Given the description of an element on the screen output the (x, y) to click on. 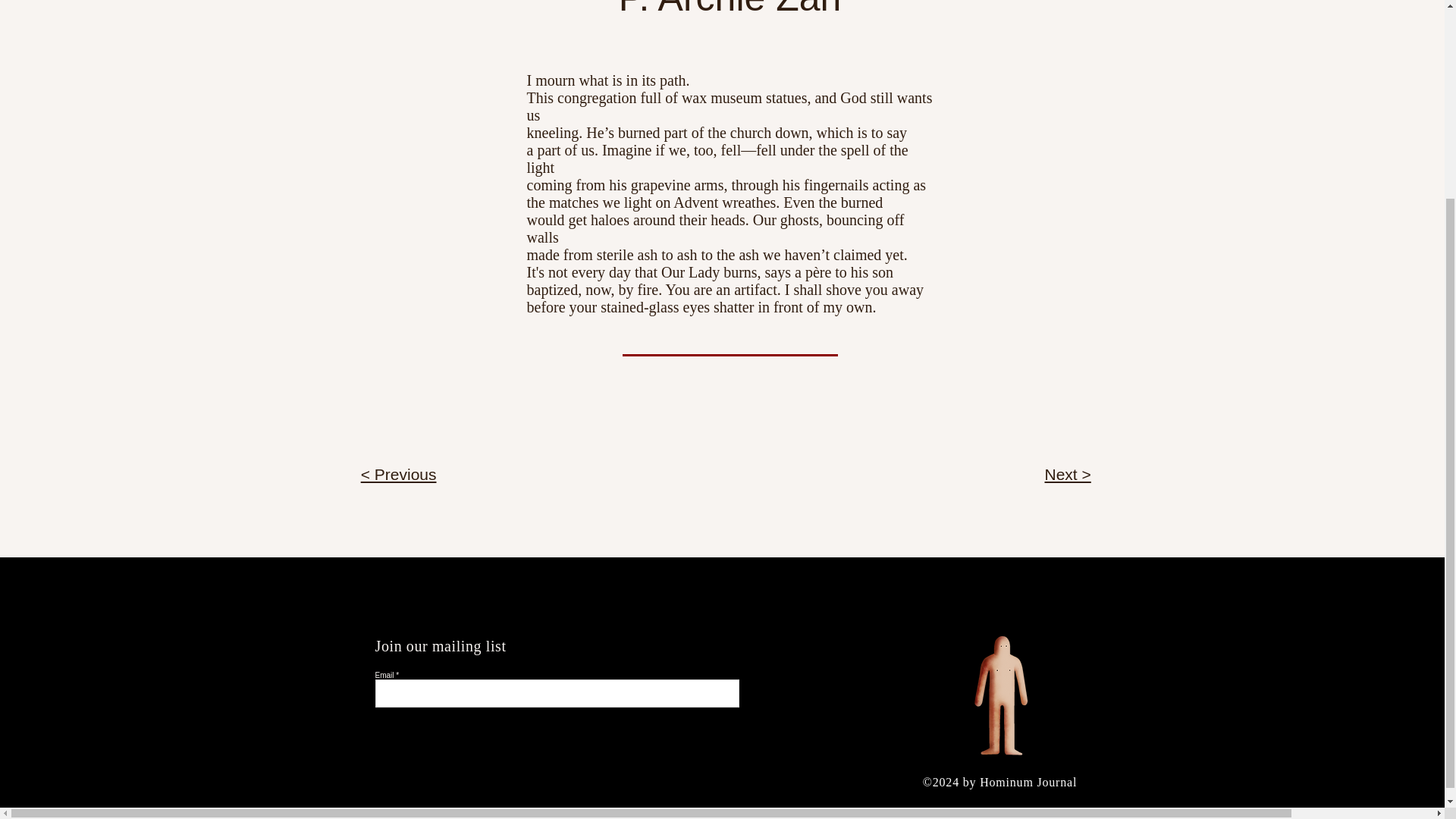
Subscribe (700, 690)
